Given the description of an element on the screen output the (x, y) to click on. 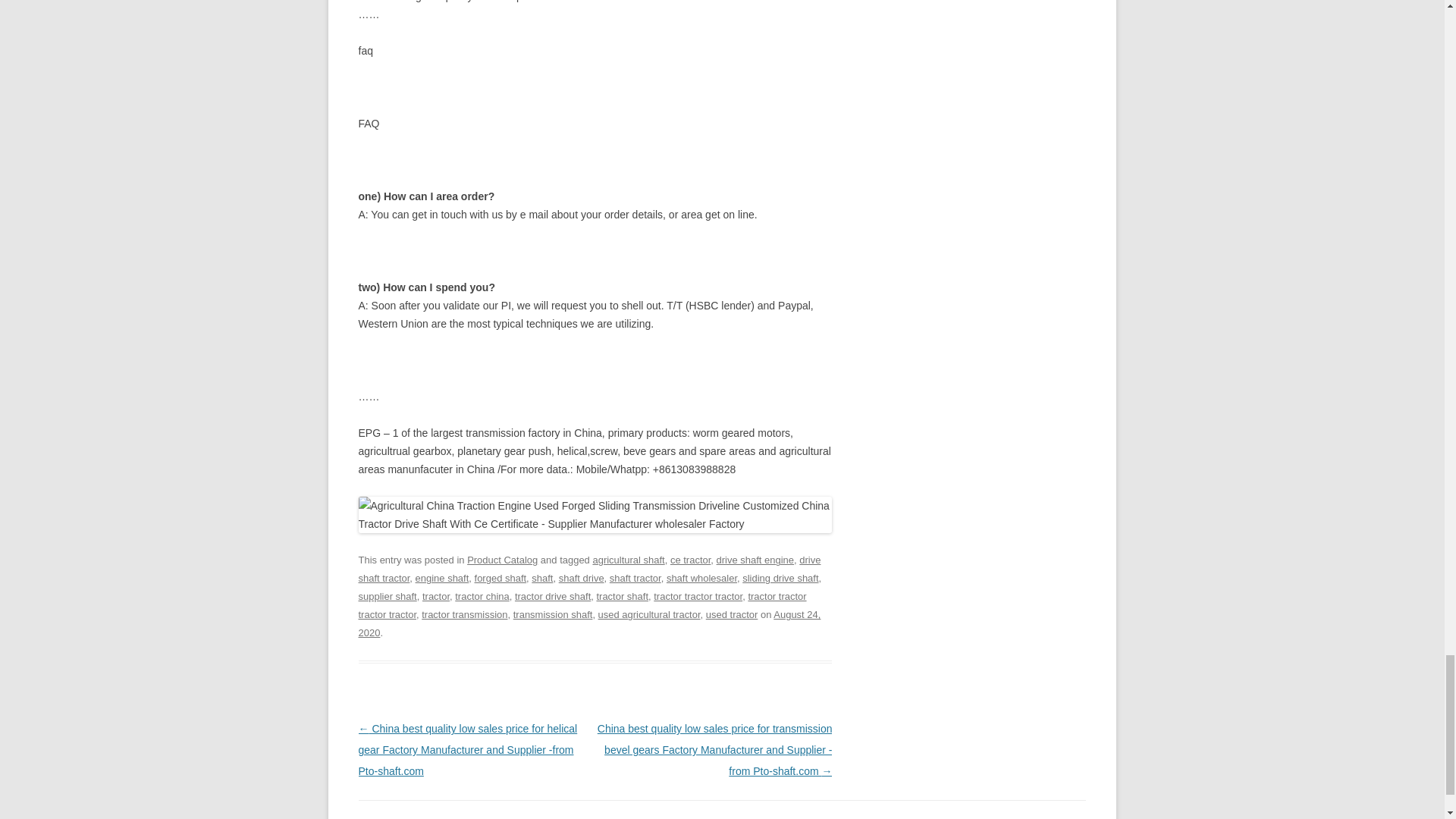
ce tractor (689, 559)
shaft wholesaler (701, 577)
shaft drive (581, 577)
agricultural shaft (627, 559)
engine shaft (441, 577)
tractor transmission (464, 614)
drive shaft engine (755, 559)
2:45 pm (589, 623)
August 24, 2020 (589, 623)
shaft (542, 577)
tractor drive shaft (553, 595)
used tractor (732, 614)
transmission shaft (552, 614)
forged shaft (500, 577)
shaft tractor (635, 577)
